Given the description of an element on the screen output the (x, y) to click on. 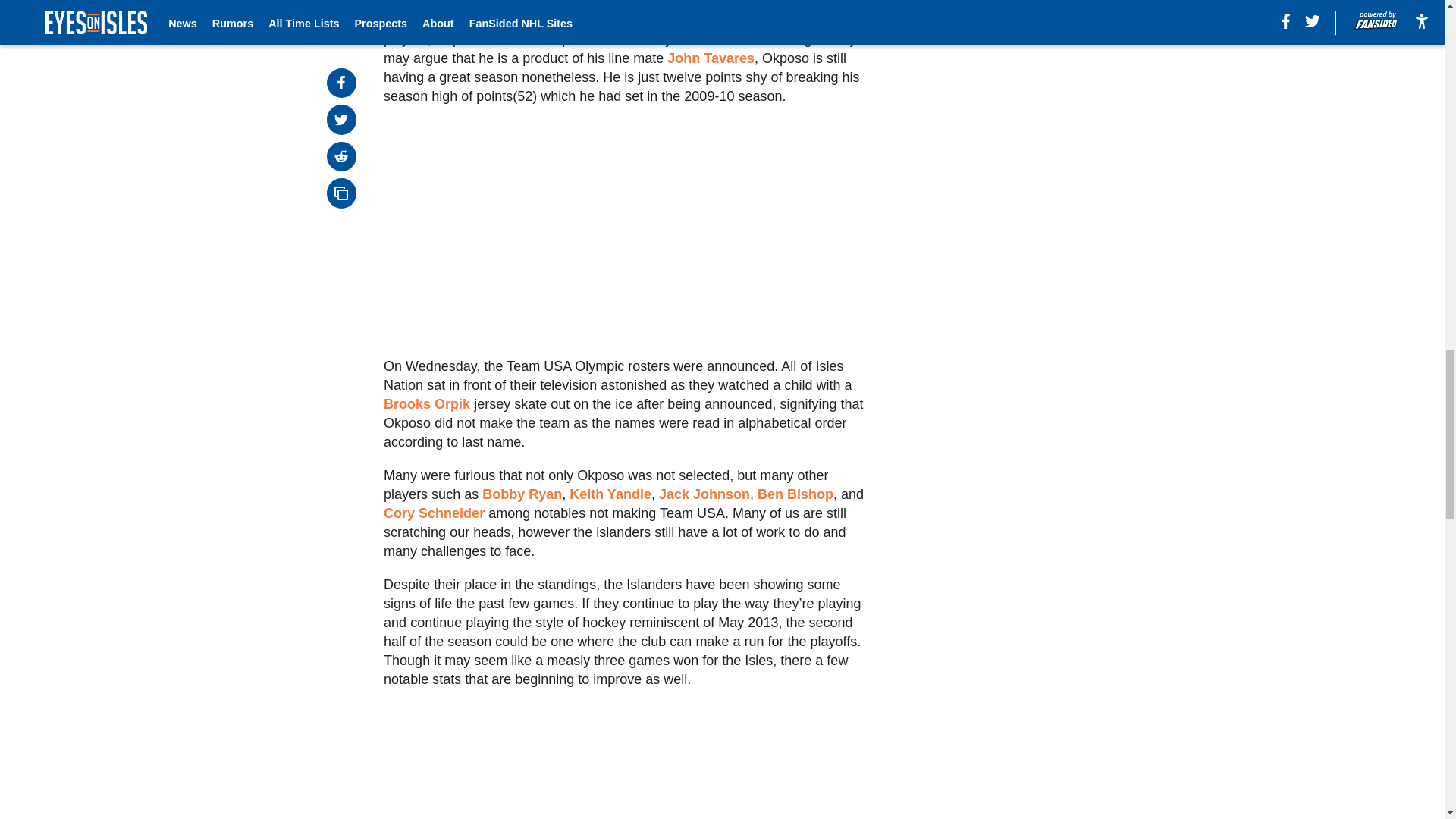
John Tavares (710, 58)
Patrick Kane (716, 38)
Cory Schneider (434, 513)
Ben Bishop (794, 494)
Brooks Orpik (427, 403)
Bobby Ryan (521, 494)
Keith Yandle (609, 494)
Jack Johnson (704, 494)
